Given the description of an element on the screen output the (x, y) to click on. 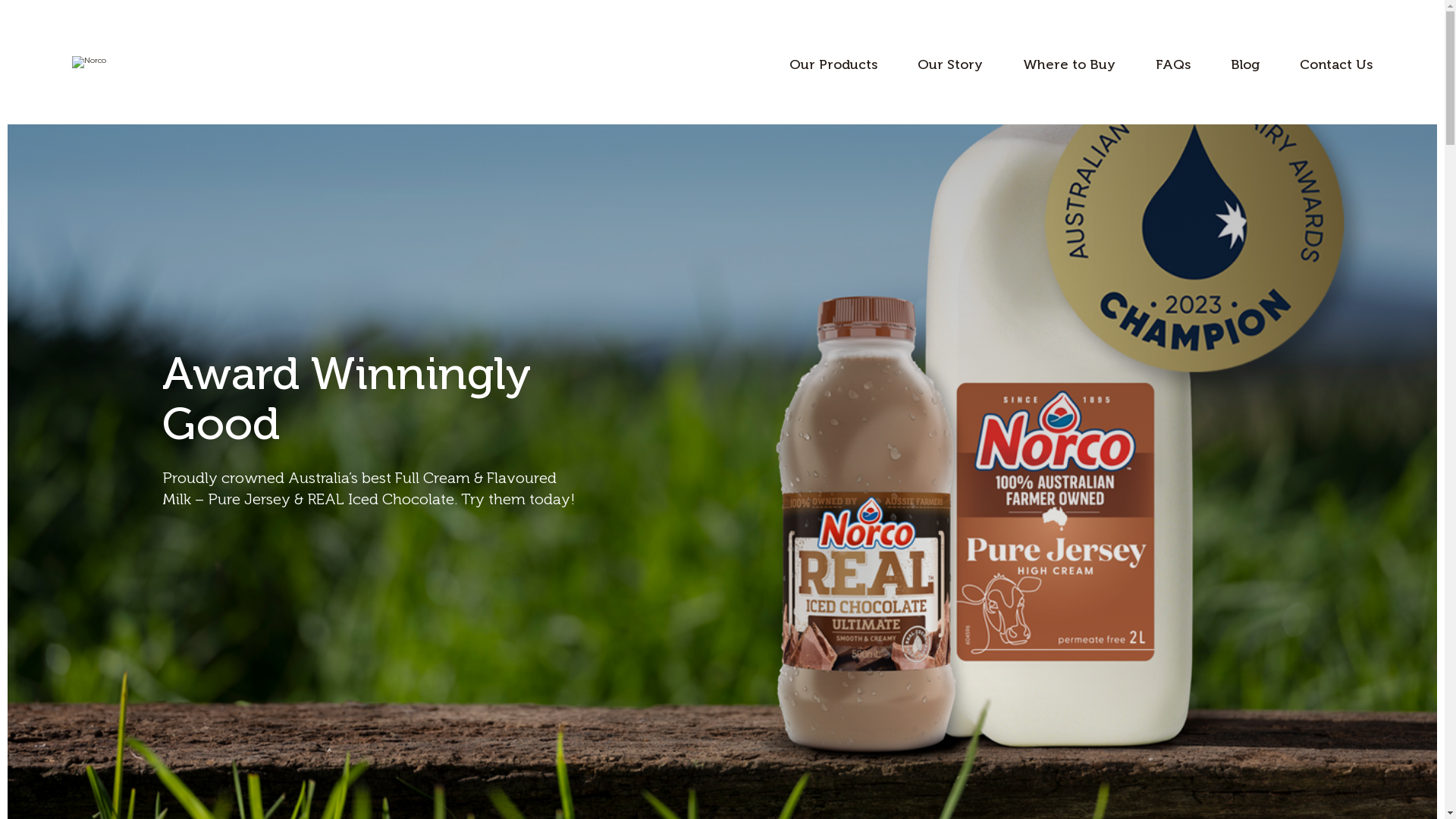
Our Products Element type: text (833, 64)
Our Story Element type: text (949, 64)
Blog Element type: text (1244, 64)
Contact Us Element type: text (1335, 64)
FAQs Element type: text (1172, 64)
Where to Buy Element type: text (1068, 64)
